Given the description of an element on the screen output the (x, y) to click on. 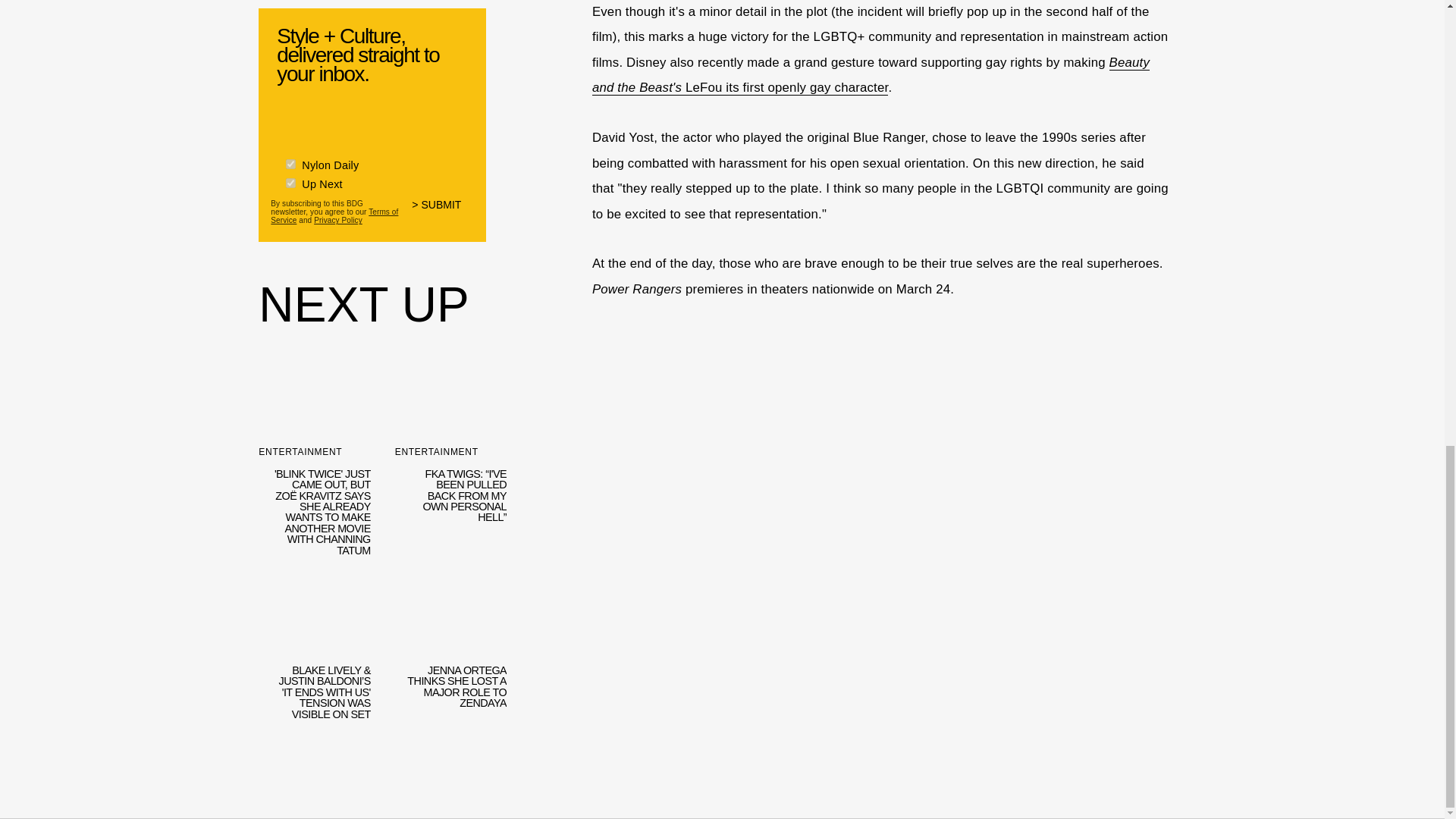
Privacy Policy (338, 220)
Beauty and the Beast's LeFou its first openly gay character (871, 75)
SUBMIT (443, 214)
Terms of Service (333, 216)
